Given the description of an element on the screen output the (x, y) to click on. 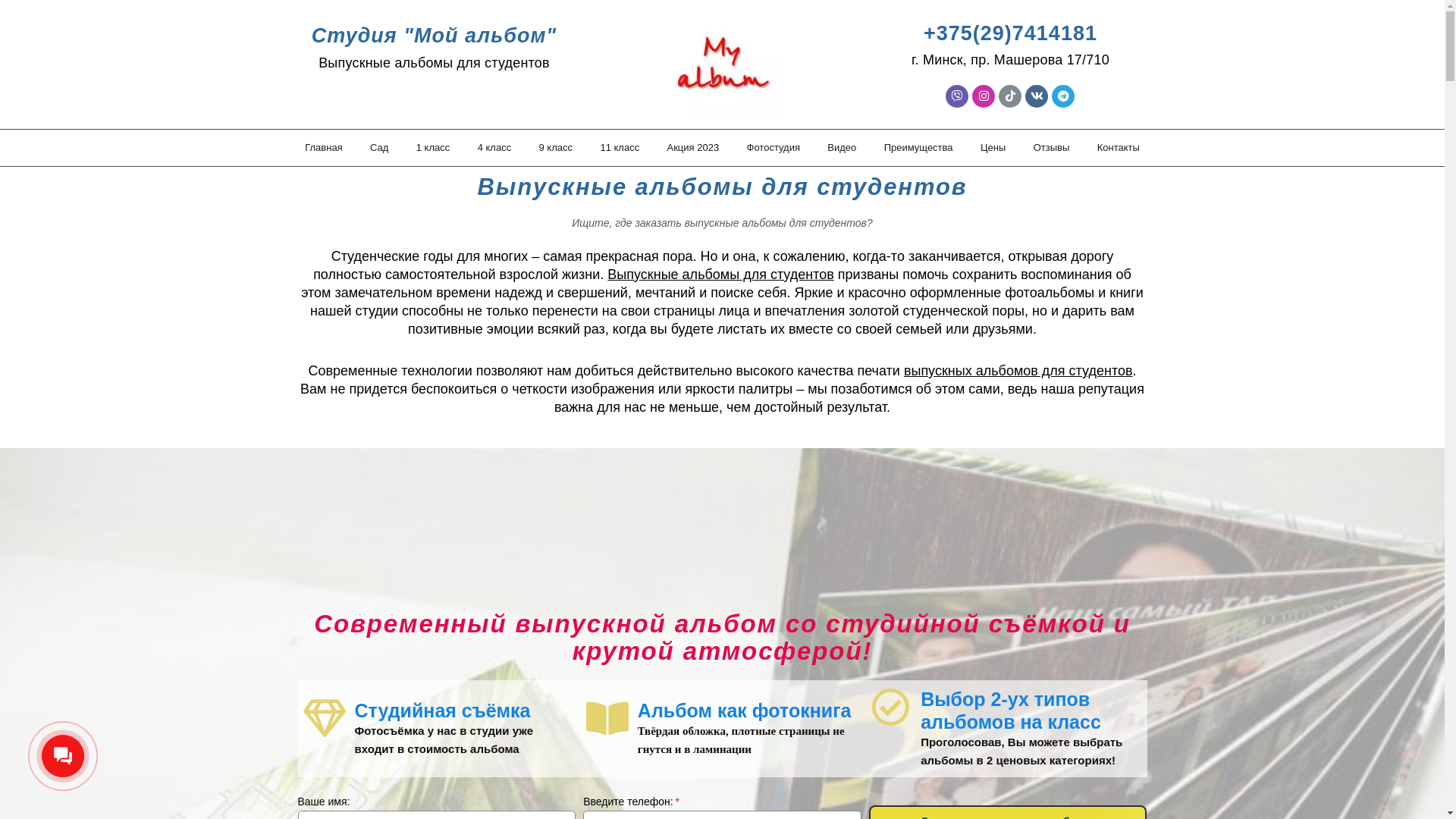
+375(29)7414181 Element type: text (1010, 32)
